Given the description of an element on the screen output the (x, y) to click on. 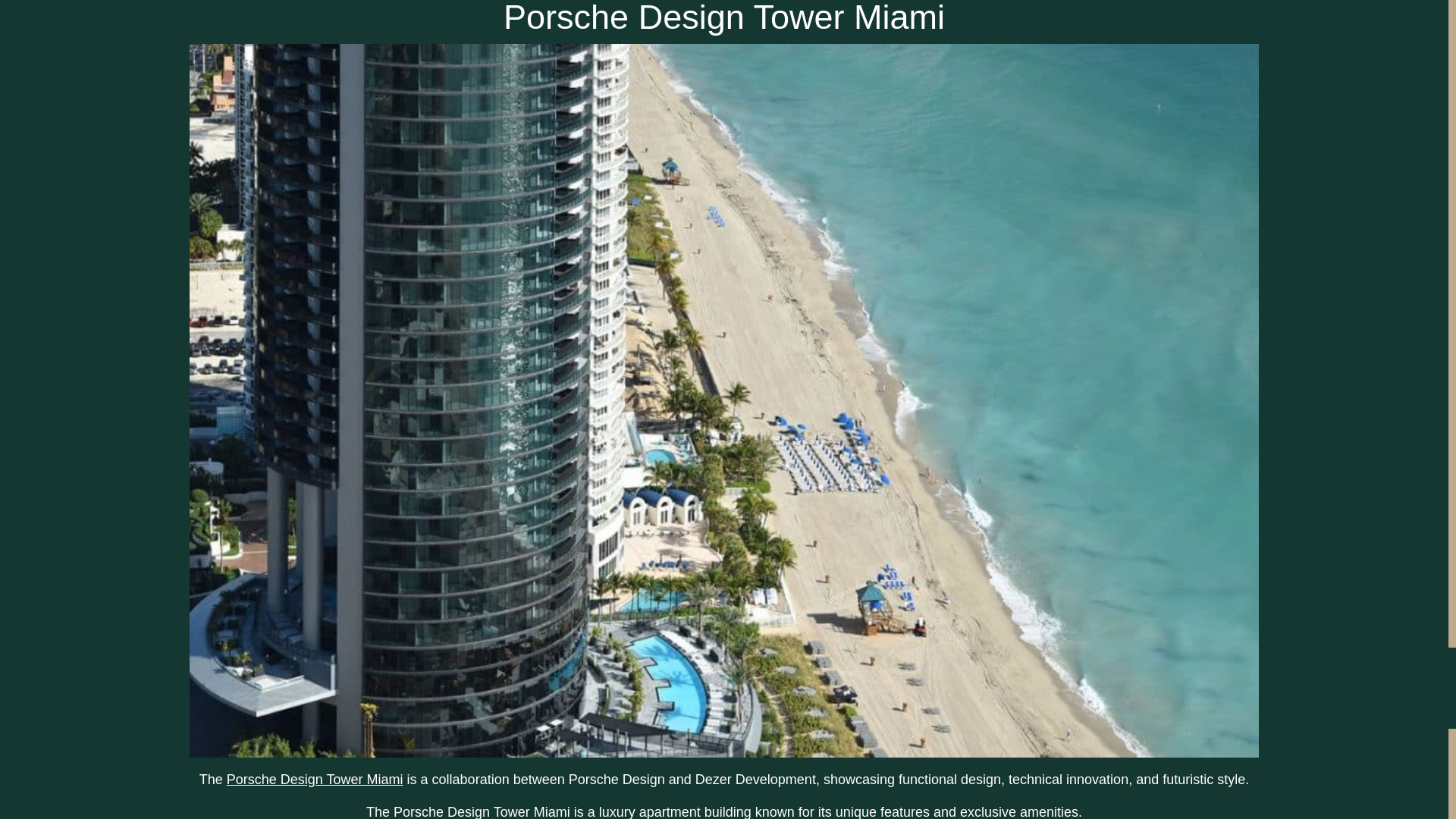
Porsche Design Tower Miami (315, 779)
